Given the description of an element on the screen output the (x, y) to click on. 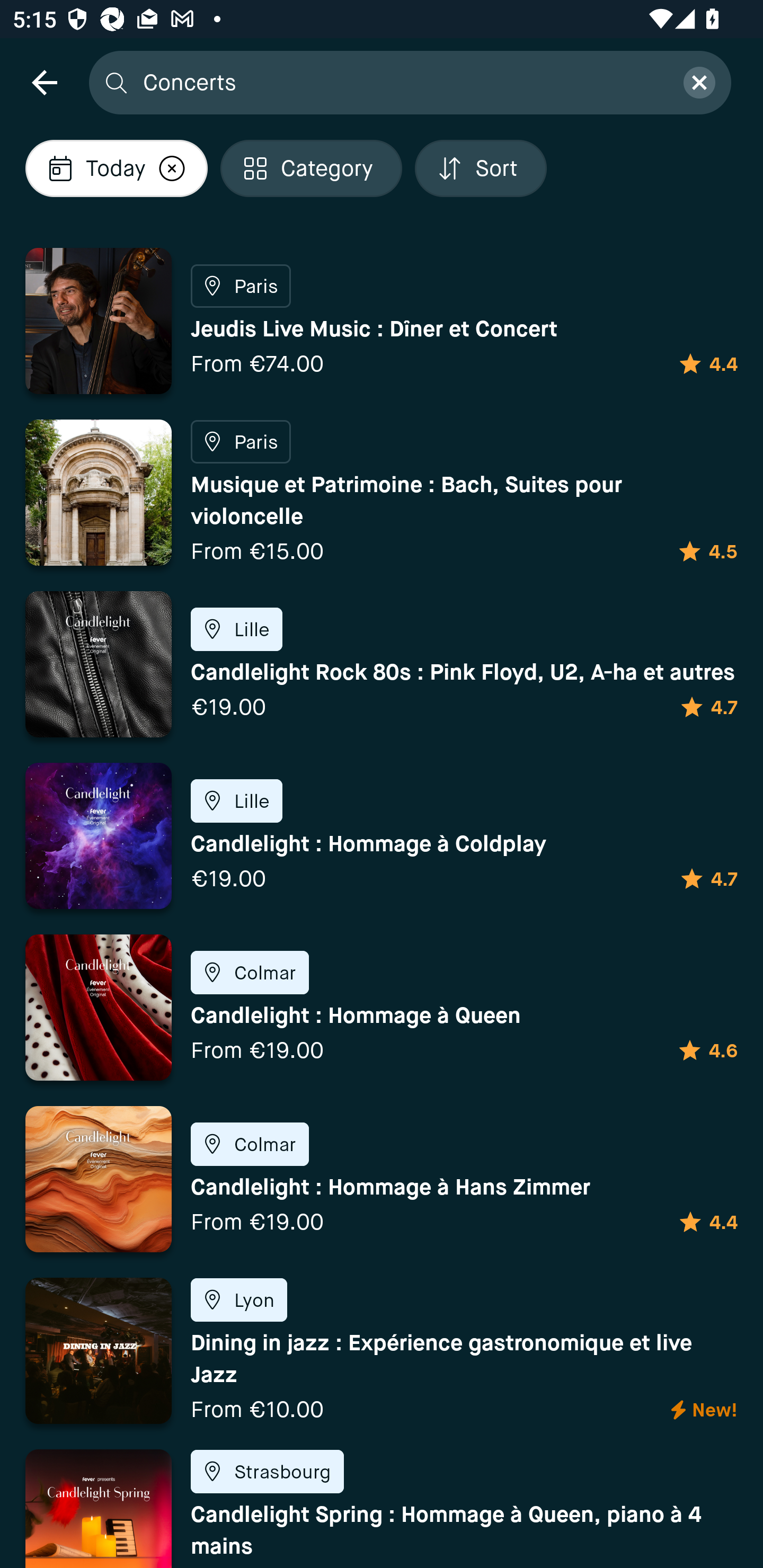
navigation icon (44, 81)
Concerts (402, 81)
Localized description Today Localized description (116, 168)
Localized description (172, 168)
Localized description Category (311, 168)
Localized description Sort (481, 168)
